Given the description of an element on the screen output the (x, y) to click on. 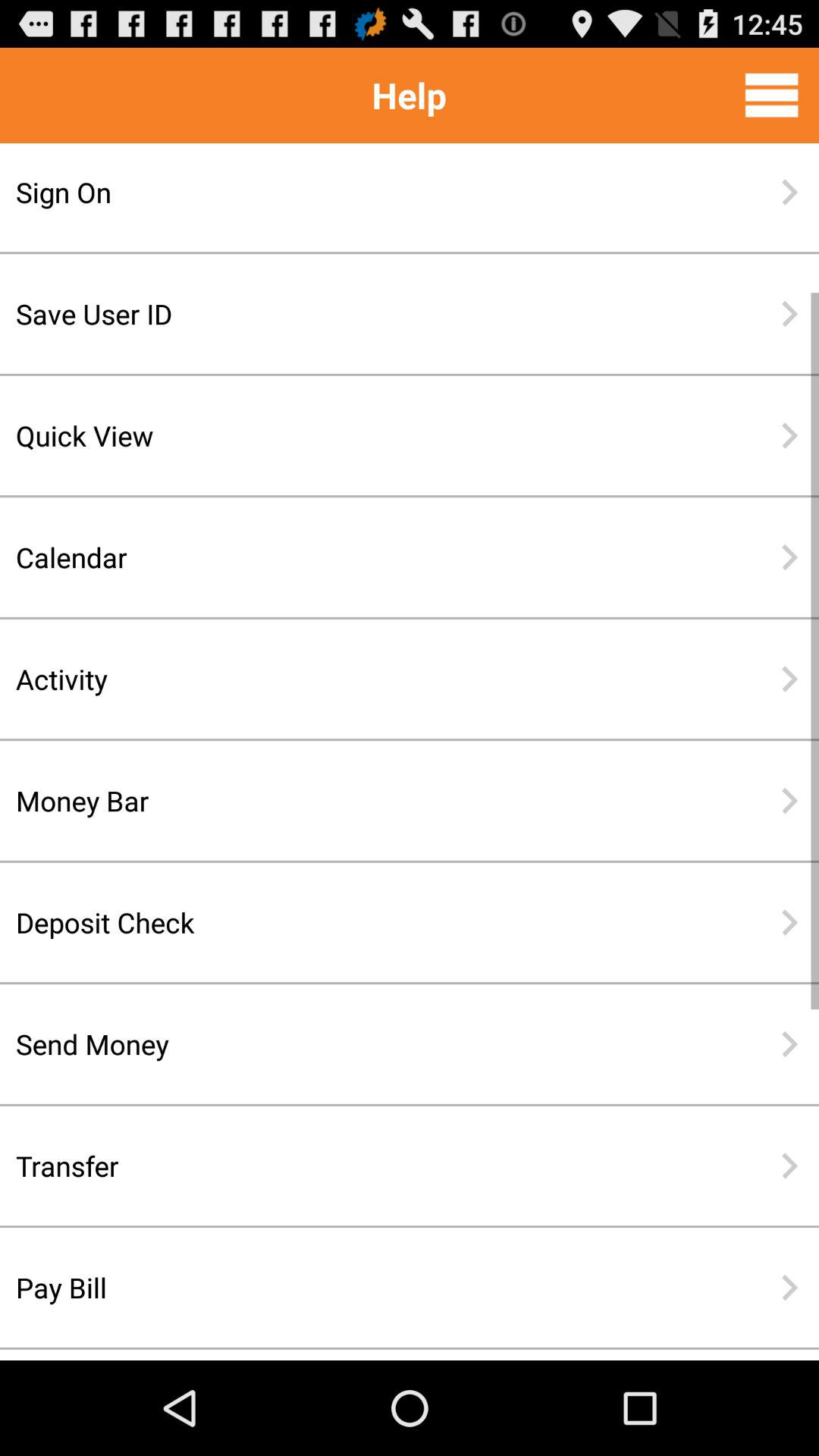
press the item to the right of help icon (771, 95)
